Given the description of an element on the screen output the (x, y) to click on. 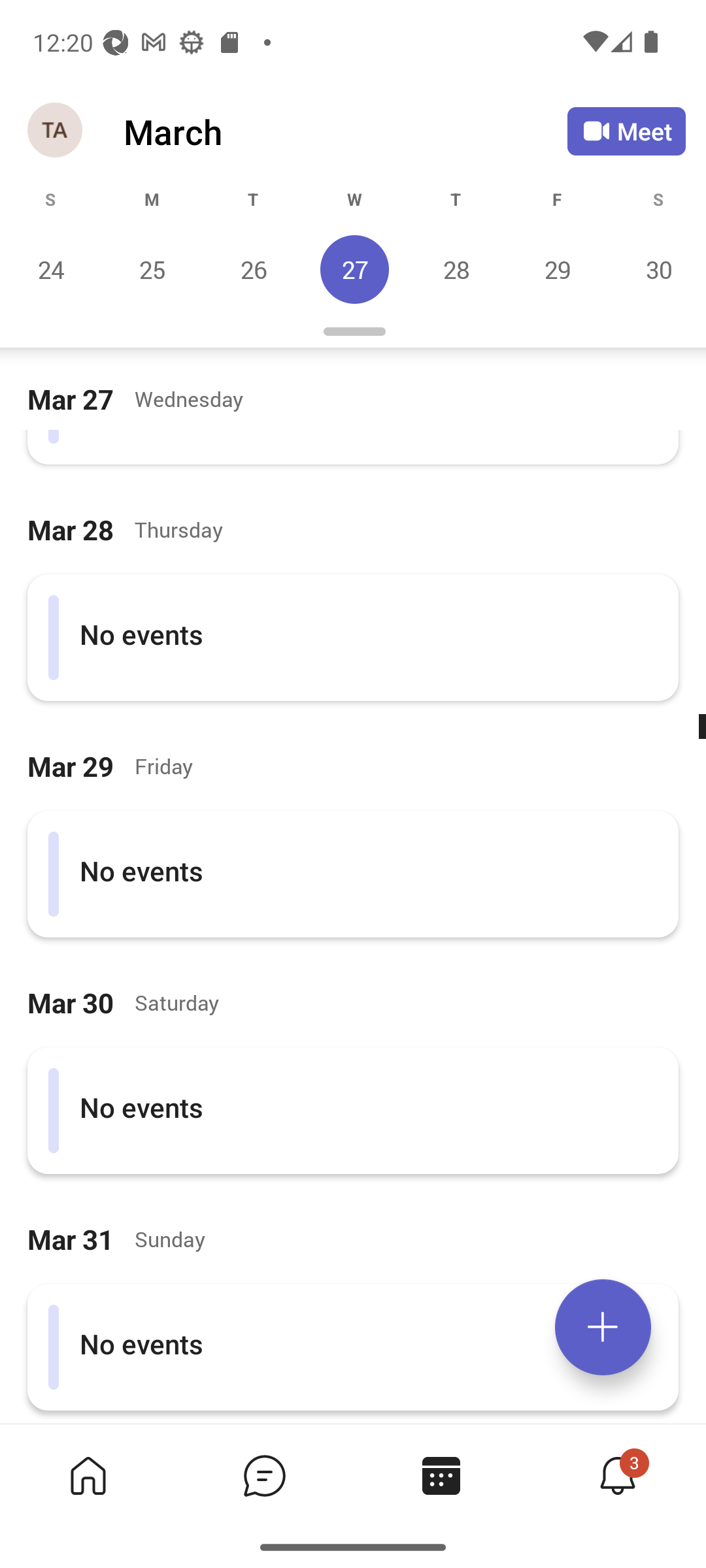
Navigation (56, 130)
Meet Meet now or join with an ID (626, 130)
March March Calendar Agenda View (345, 131)
Sunday, March 24 24 (50, 269)
Monday, March 25 25 (151, 269)
Tuesday, March 26 26 (253, 269)
Wednesday, March 27, Selected 27 (354, 269)
Thursday, March 28 28 (455, 269)
Friday, March 29 29 (556, 269)
Saturday, March 30 30 (656, 269)
Expand meetings menu (602, 1327)
Home tab,1 of 4, not selected (88, 1475)
Chat tab,2 of 4, not selected (264, 1475)
Calendar tab, 3 of 4 (441, 1475)
Activity tab,4 of 4, not selected, 3 new 3 (617, 1475)
